Given the description of an element on the screen output the (x, y) to click on. 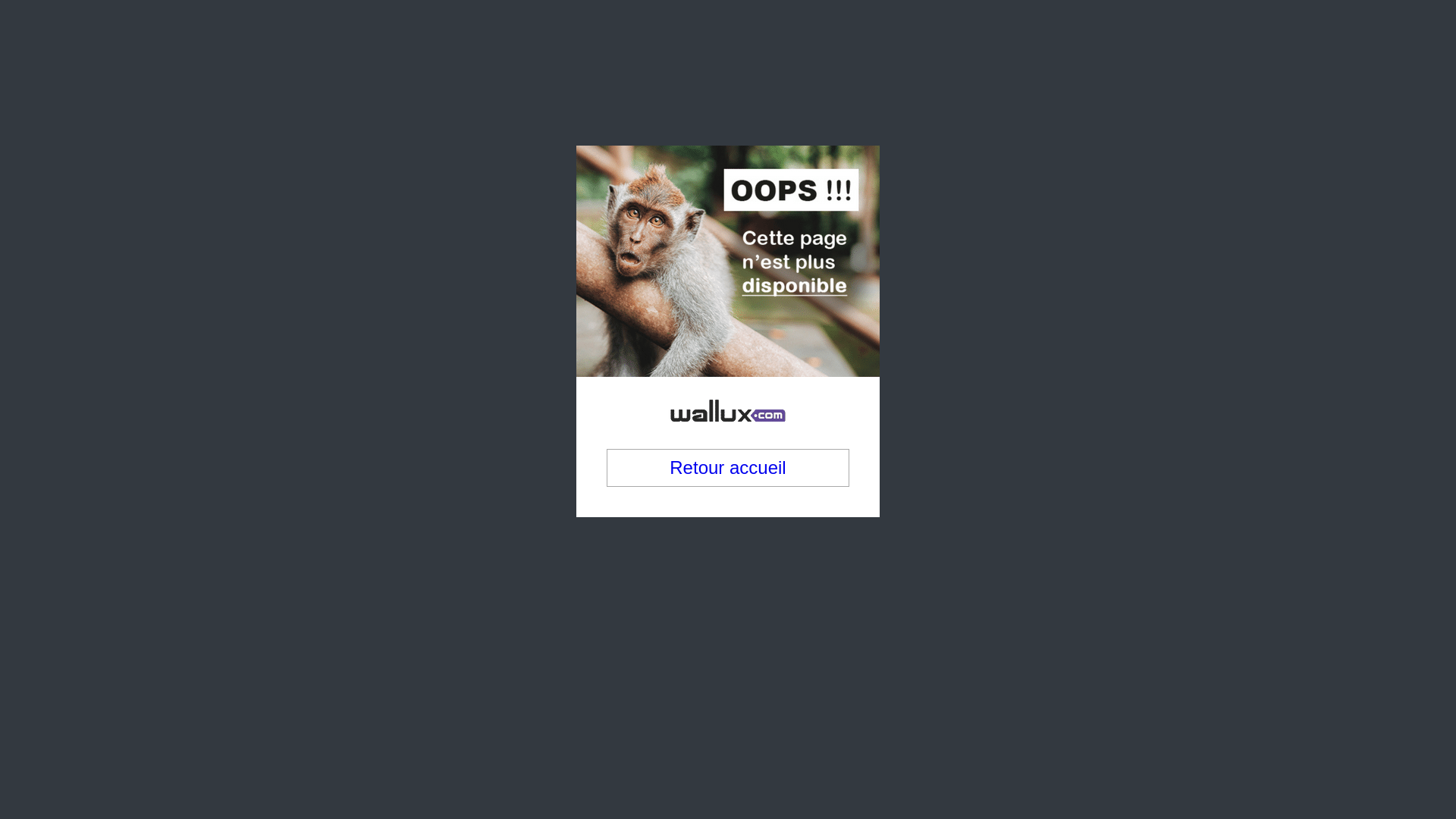
Retour accueil Element type: text (727, 385)
wallux.com Element type: hover (727, 296)
